Given the description of an element on the screen output the (x, y) to click on. 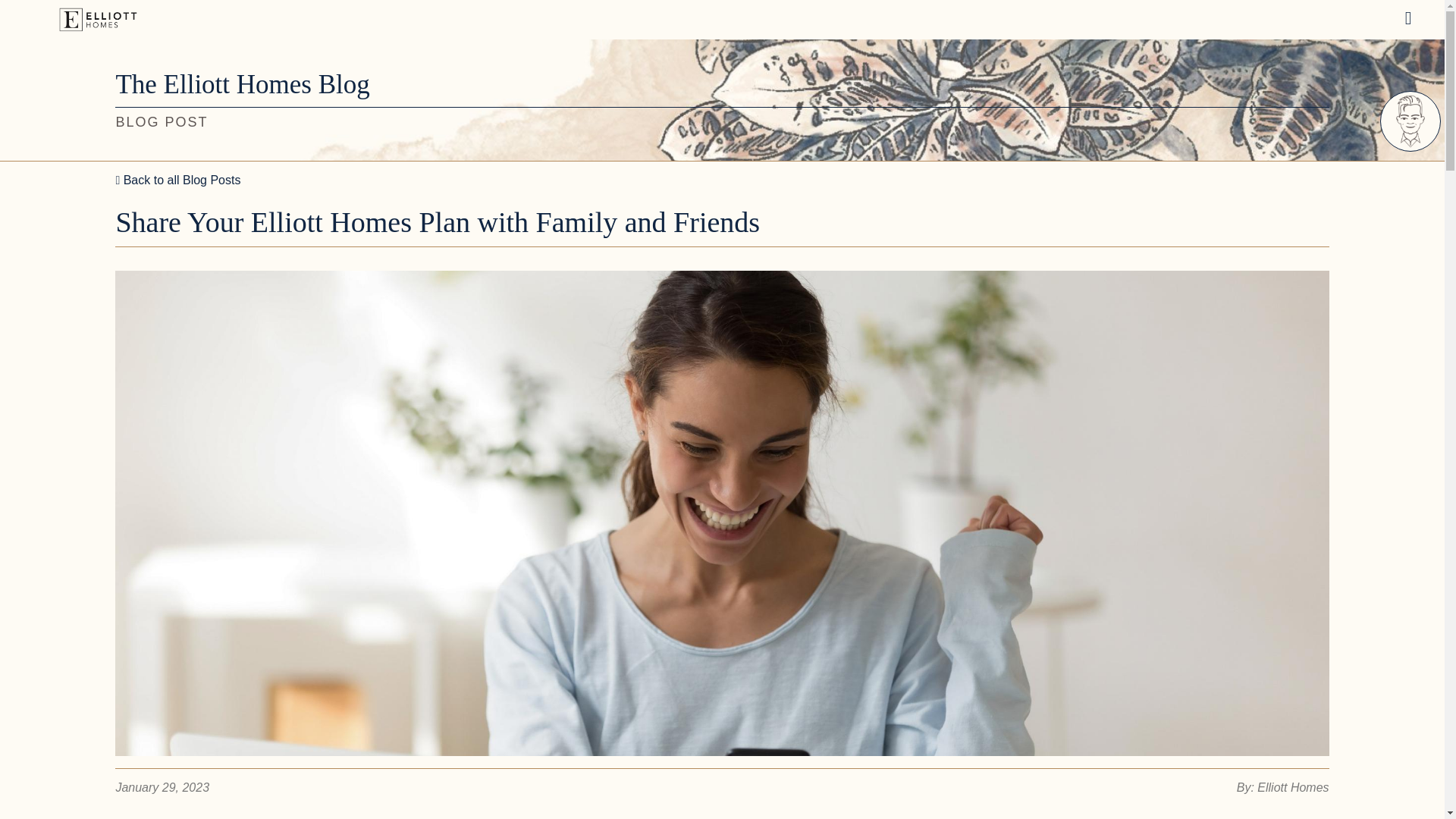
Back to all Blog Posts (177, 178)
